Given the description of an element on the screen output the (x, y) to click on. 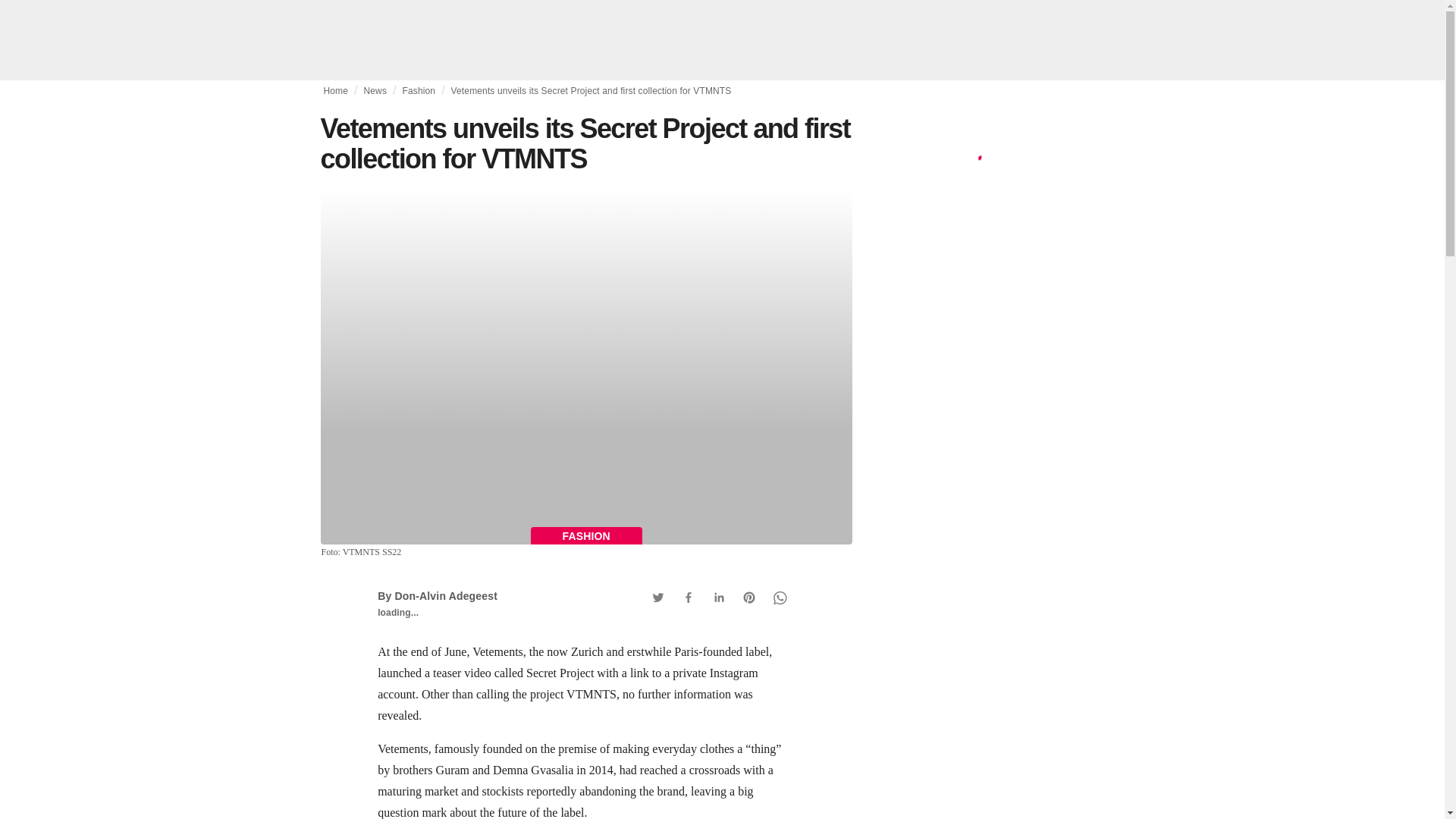
News (375, 90)
Fashion (418, 90)
Home (335, 90)
By Don-Alvin Adegeest (437, 595)
